Given the description of an element on the screen output the (x, y) to click on. 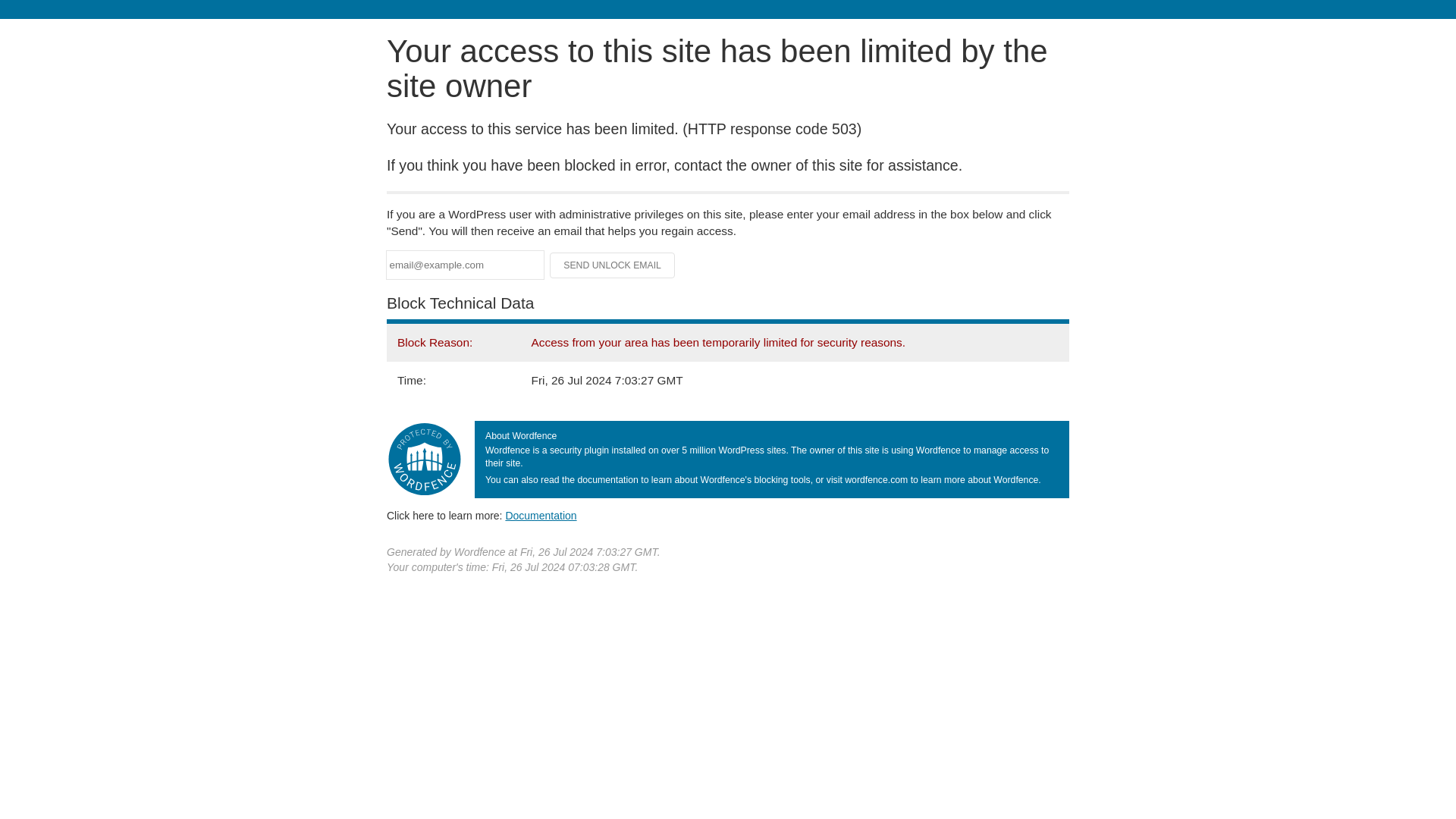
Send Unlock Email (612, 265)
Documentation (540, 515)
Send Unlock Email (612, 265)
